Given the description of an element on the screen output the (x, y) to click on. 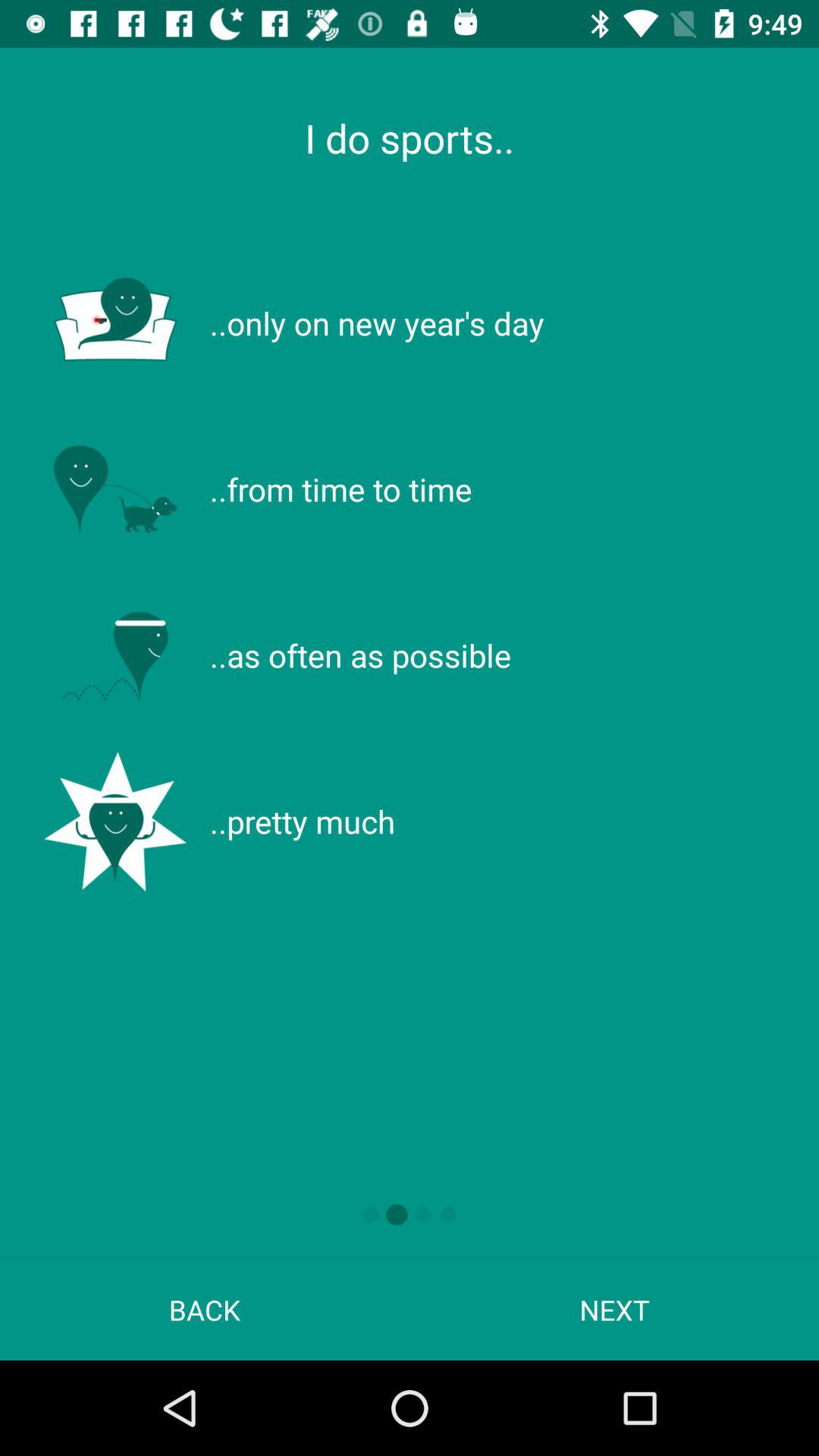
press next at the bottom right corner (614, 1309)
